Given the description of an element on the screen output the (x, y) to click on. 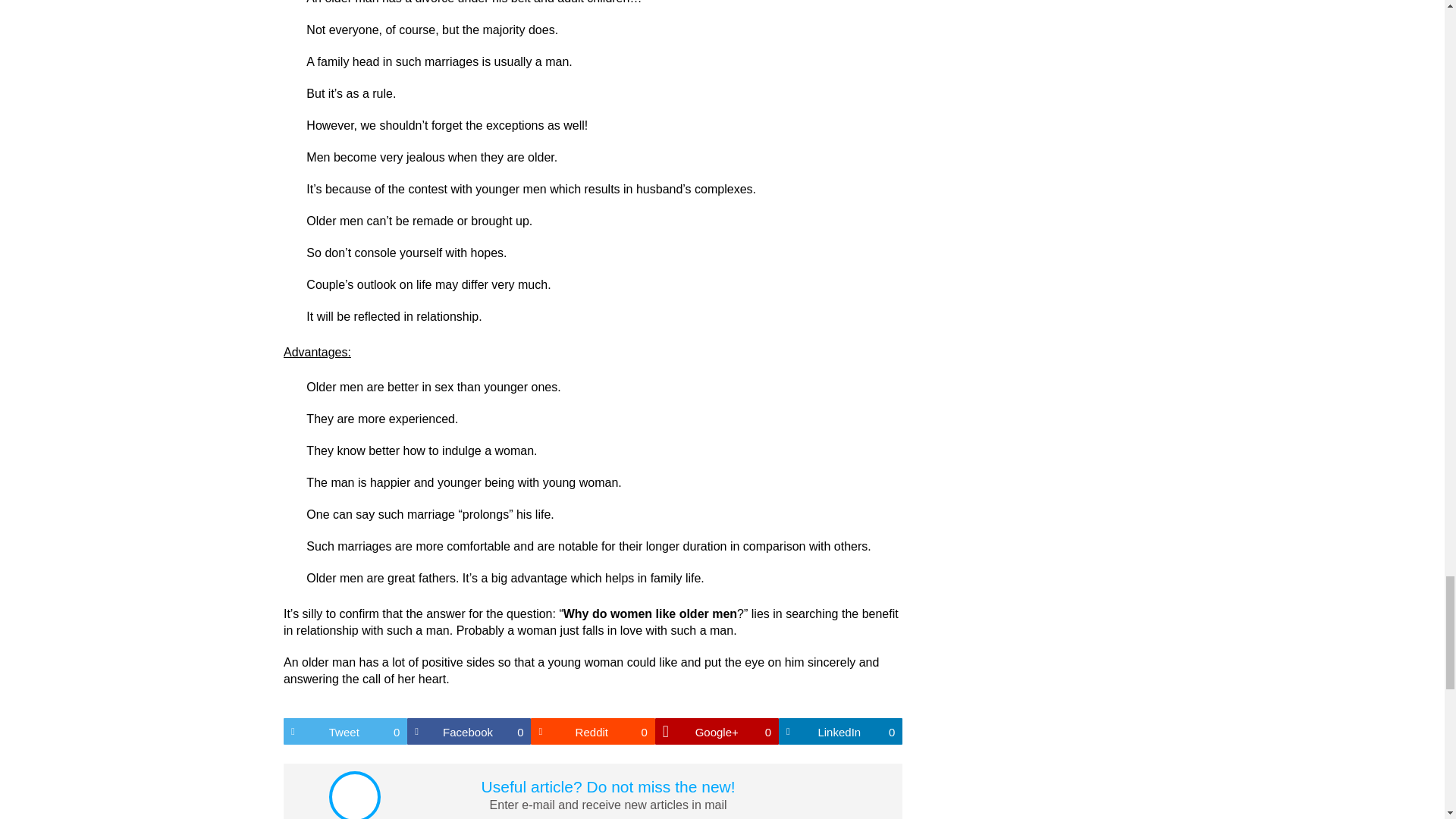
Tweet on Twitter (345, 731)
Share on Linkedin (840, 731)
Share on Facebook (840, 731)
Submit to Reddit (469, 731)
